Given the description of an element on the screen output the (x, y) to click on. 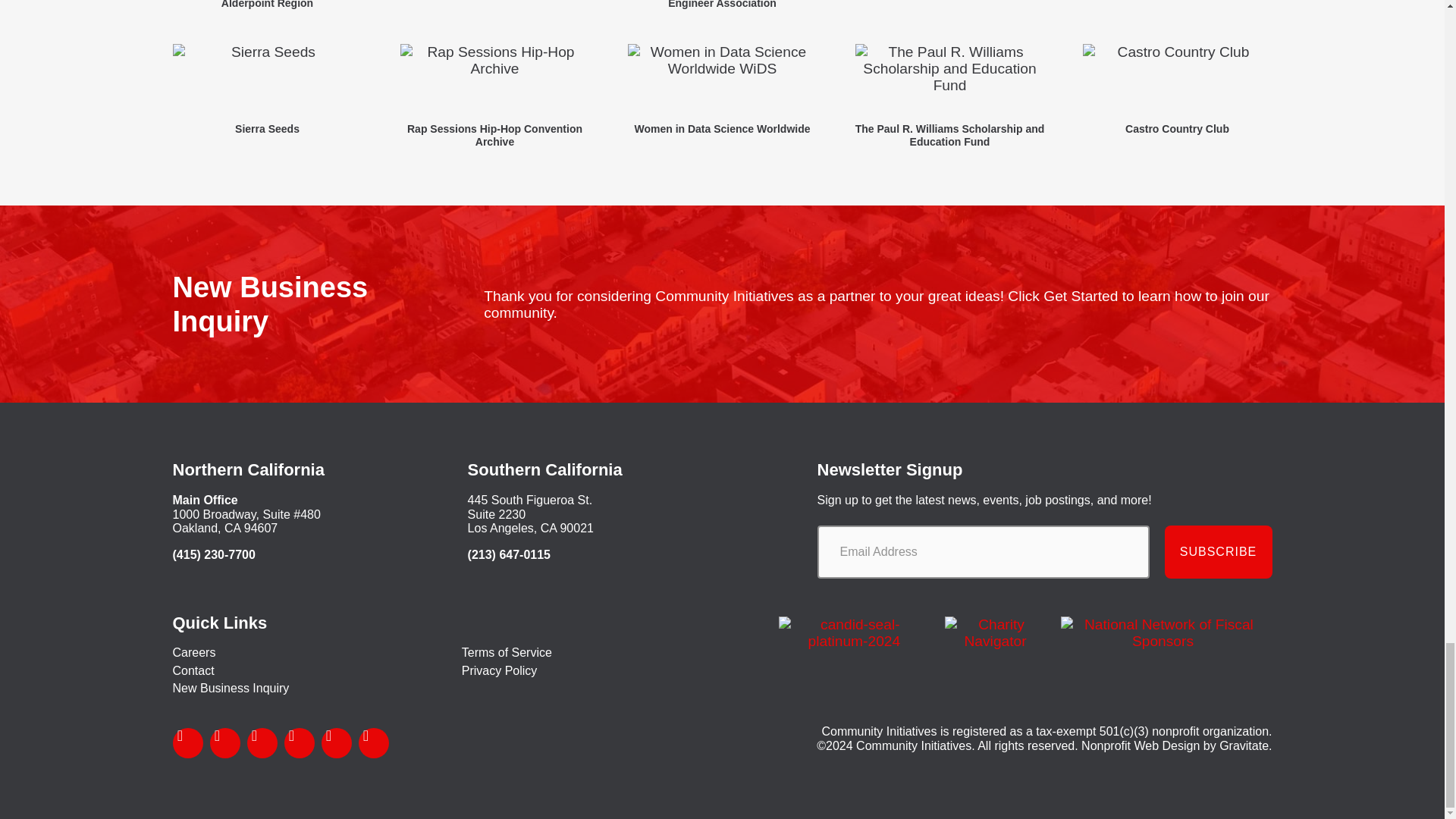
candid-seal-platinum-2024 (854, 633)
NNFS-white (1162, 633)
Subscribe (1218, 551)
